Given the description of an element on the screen output the (x, y) to click on. 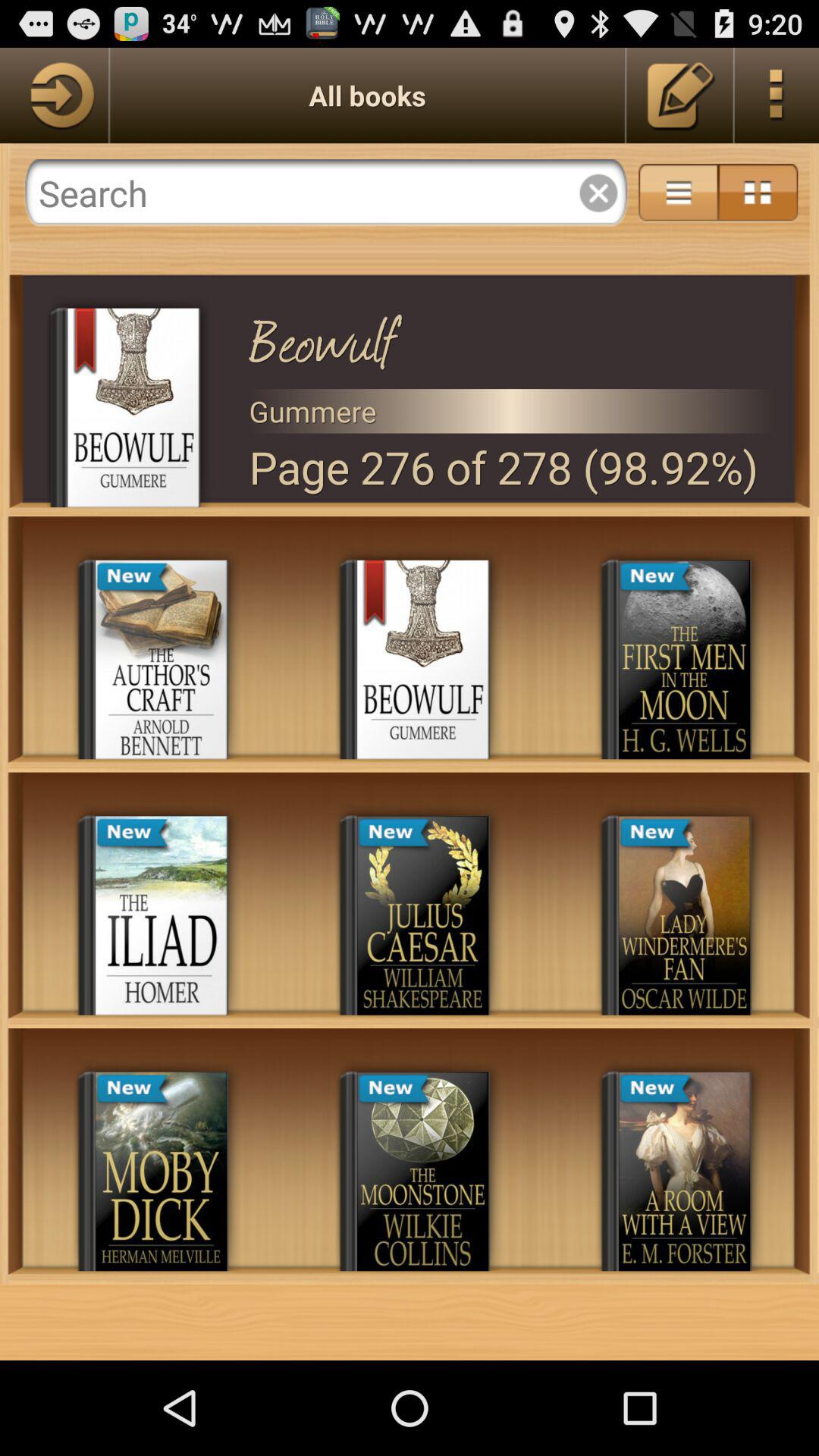
go to menu (776, 95)
